Given the description of an element on the screen output the (x, y) to click on. 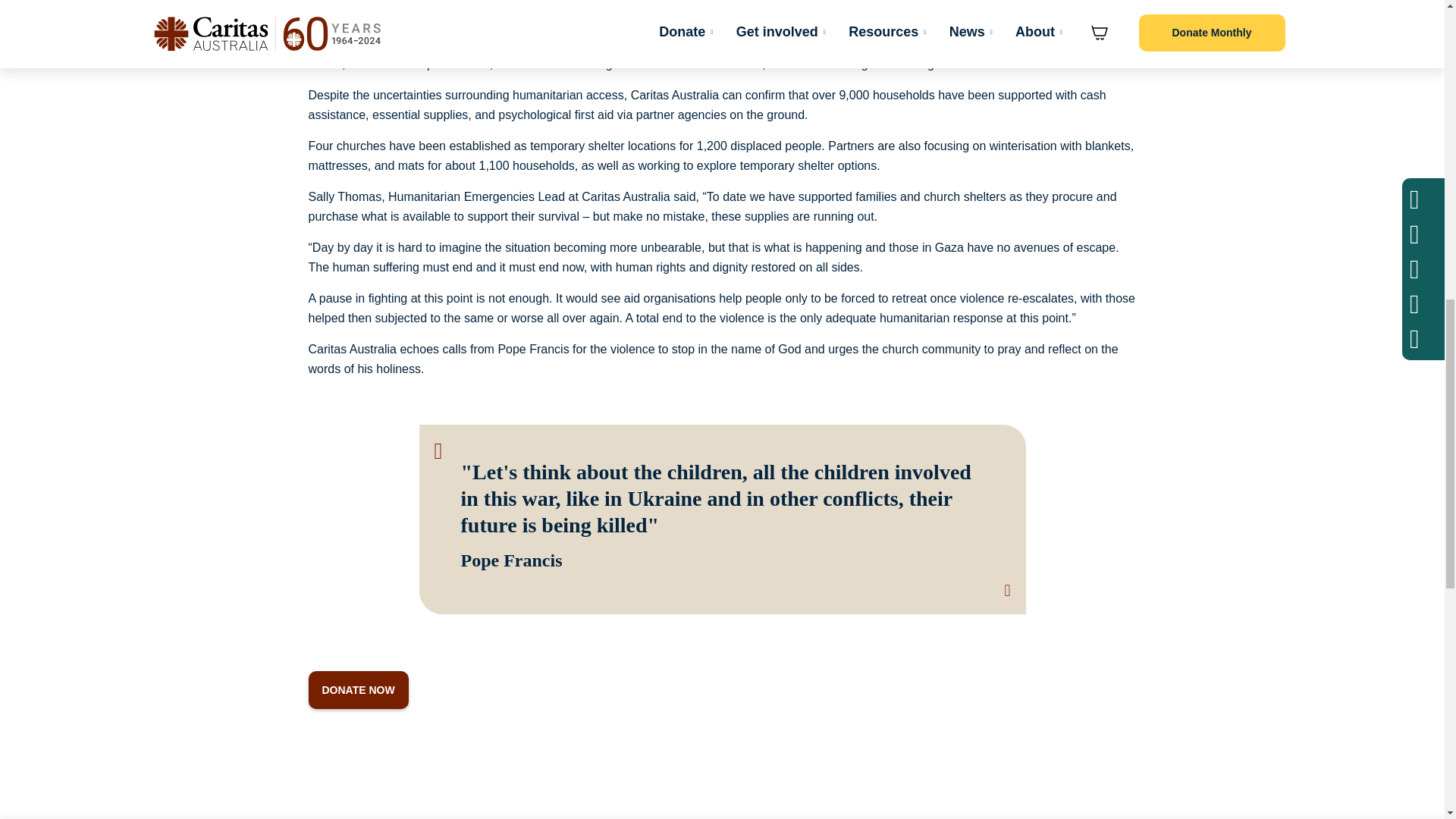
Gaza Crisis (357, 689)
